Given the description of an element on the screen output the (x, y) to click on. 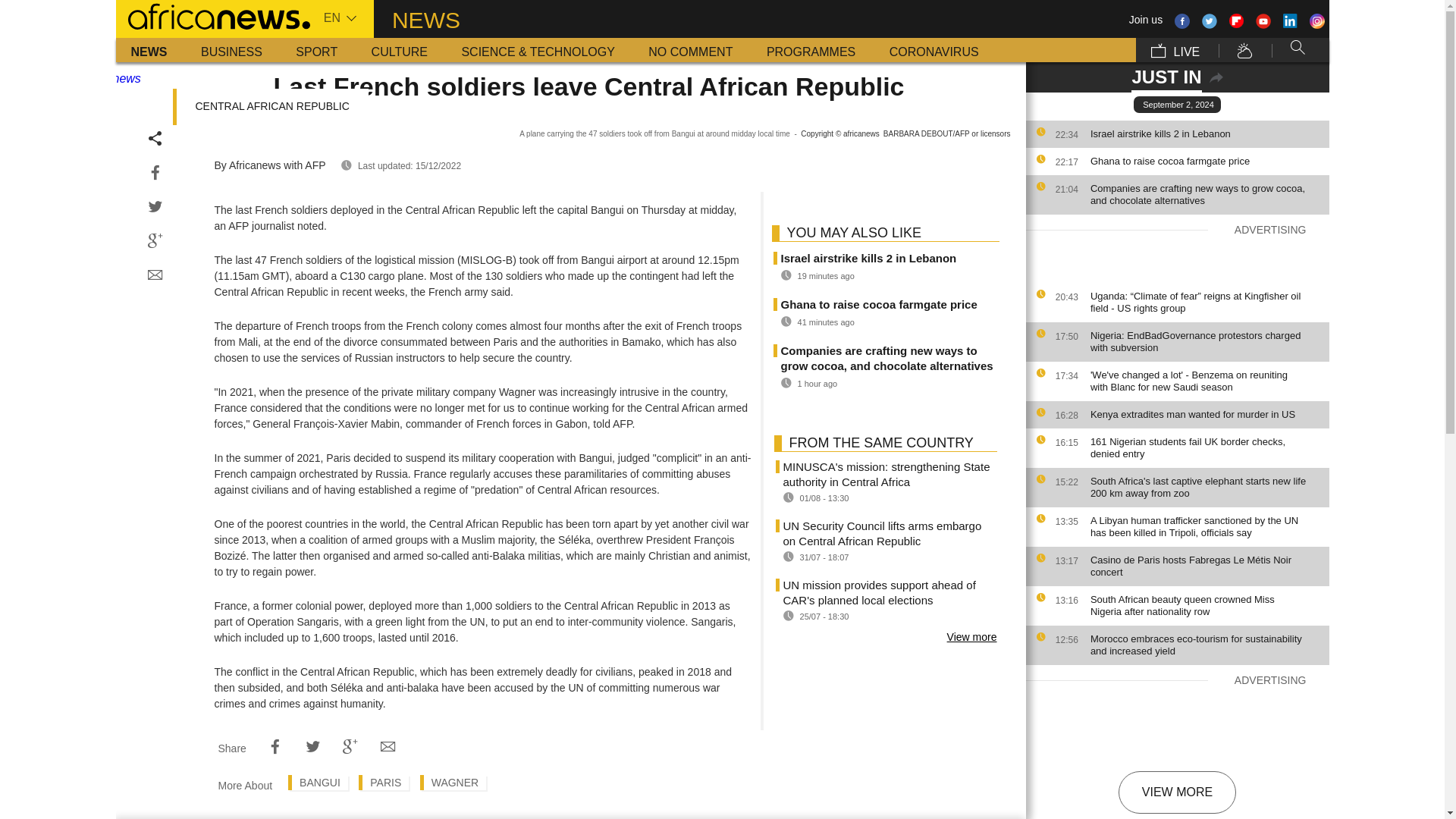
Africanews (211, 15)
Ghana to raise cocoa farmgate price (1206, 161)
Israel airstrike kills 2 in Lebanon (1206, 133)
BUSINESS (232, 49)
NEWS (148, 49)
Nigeria: EndBadGovernance protestors charged with subversion (1206, 341)
Sport (316, 49)
News (148, 49)
LIVE (1174, 49)
CULTURE (399, 49)
